Given the description of an element on the screen output the (x, y) to click on. 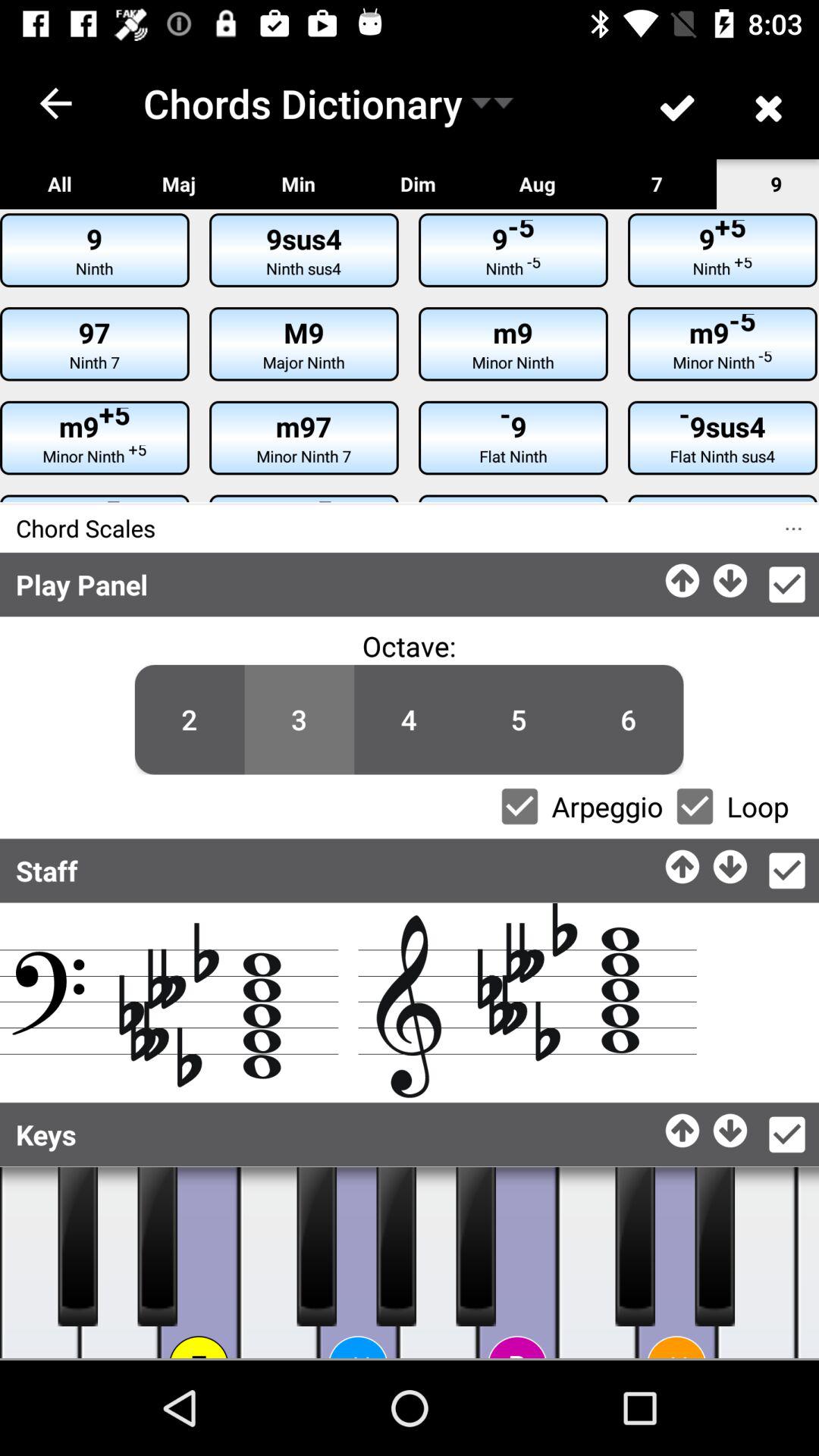
looping the music vailence (694, 806)
